Given the description of an element on the screen output the (x, y) to click on. 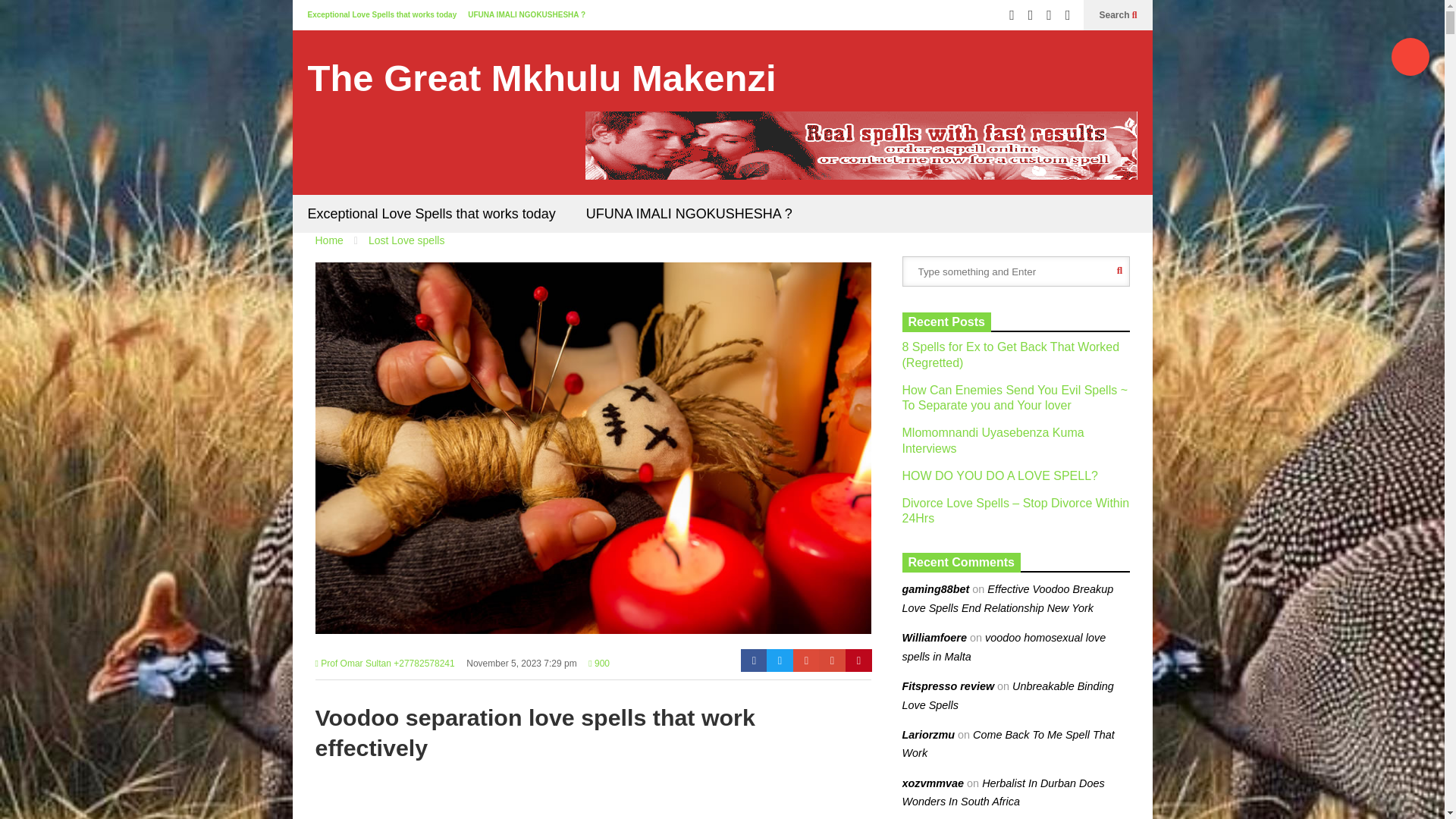
UFUNA IMALI NGOKUSHESHA ? (689, 213)
November 5, 2023 7:29 pm (520, 667)
Home (329, 240)
E-mail (831, 660)
The Great Mkhulu Makenzi (541, 78)
Search (1118, 15)
Facebook (754, 660)
UFUNA IMALI NGOKUSHESHA ? (526, 14)
Pinterest (858, 660)
